Given the description of an element on the screen output the (x, y) to click on. 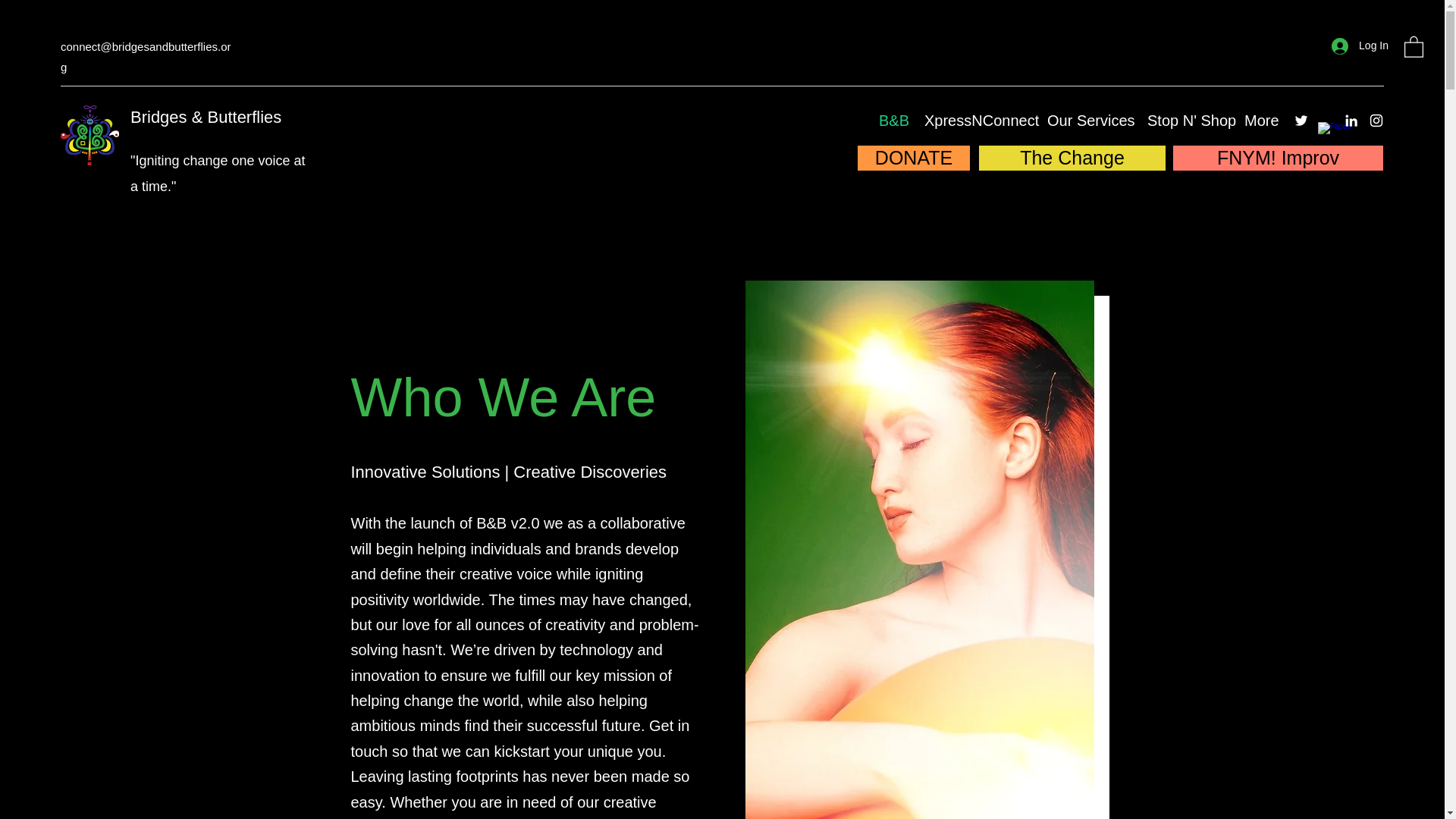
The Change (1072, 157)
Stop N' Shop (1184, 119)
Our Services (1085, 119)
Log In (1359, 45)
DONATE (913, 157)
FNYM! Improv (1278, 157)
